Given the description of an element on the screen output the (x, y) to click on. 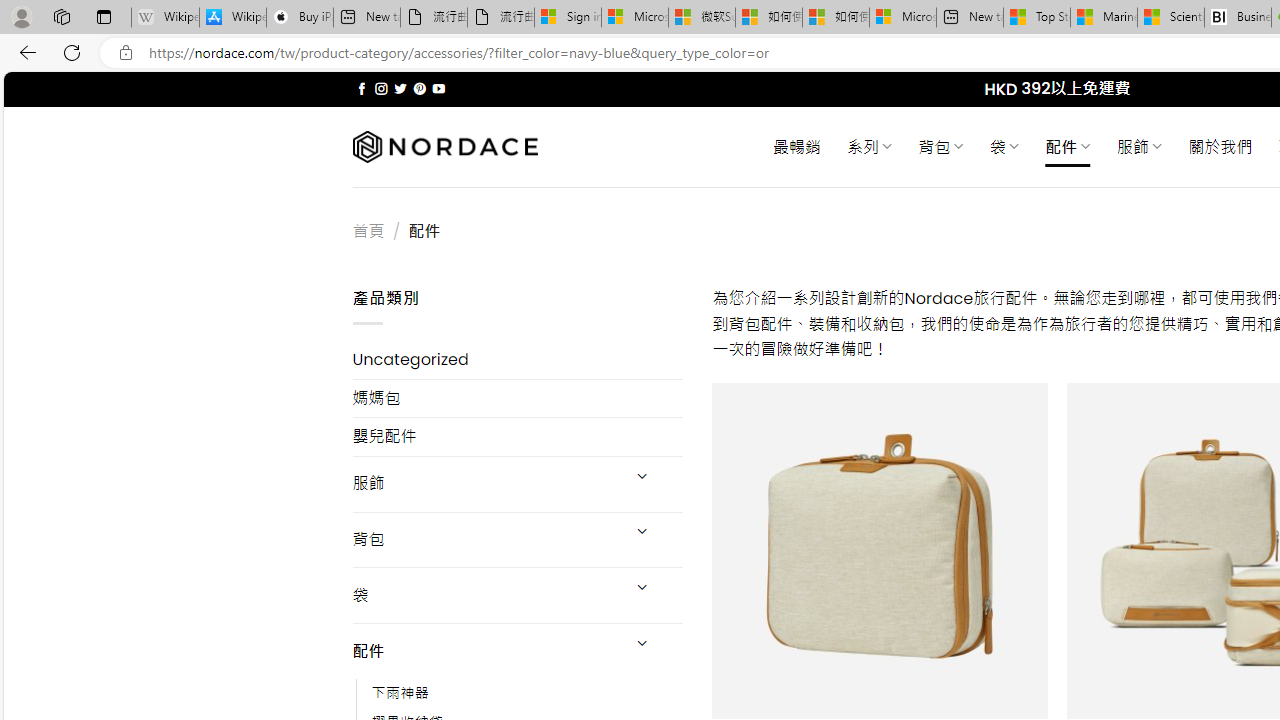
Uncategorized (517, 359)
Follow on Twitter (400, 88)
Uncategorized (517, 359)
